Given the description of an element on the screen output the (x, y) to click on. 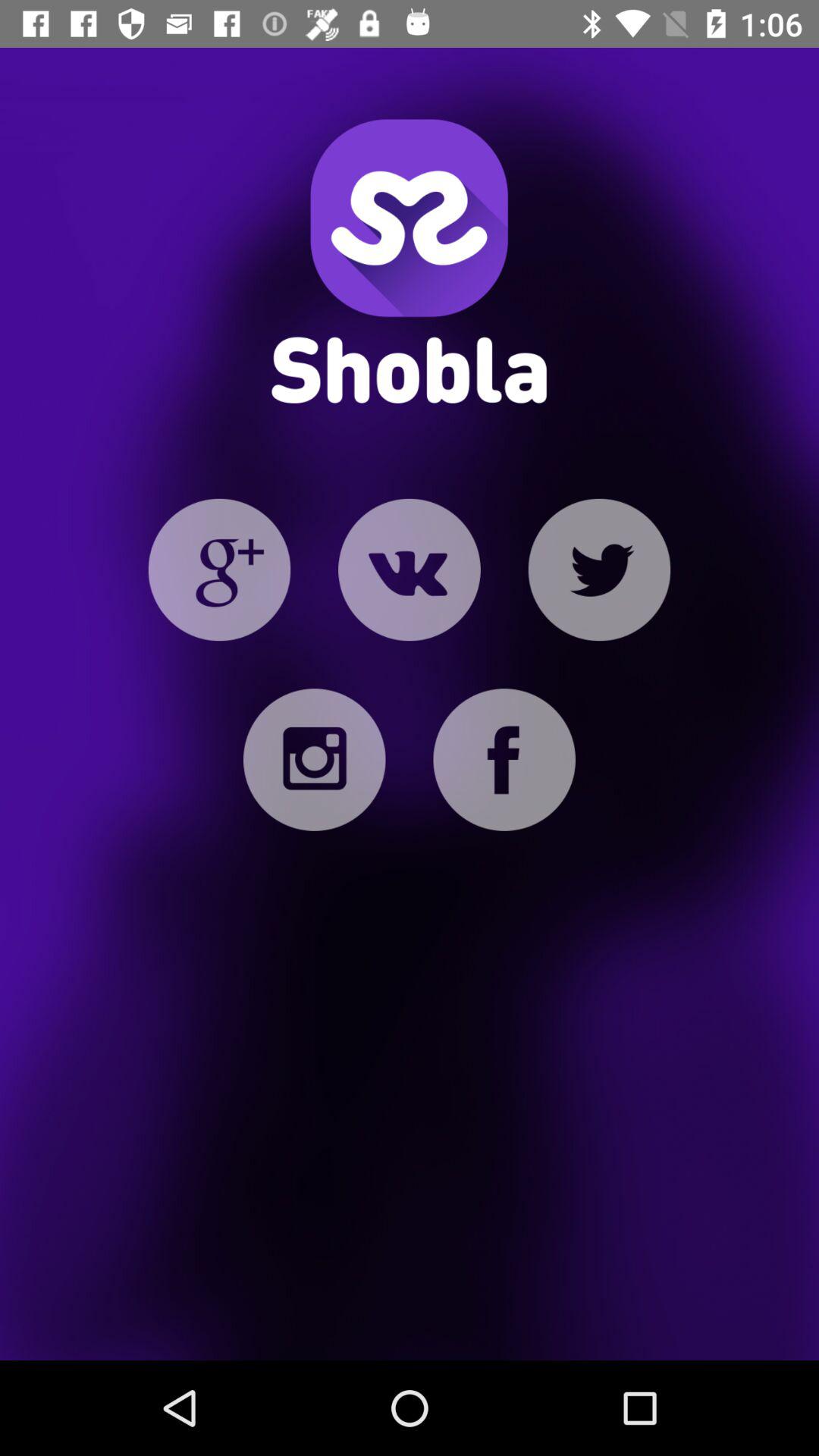
connect with the google plus icon (219, 569)
